Given the description of an element on the screen output the (x, y) to click on. 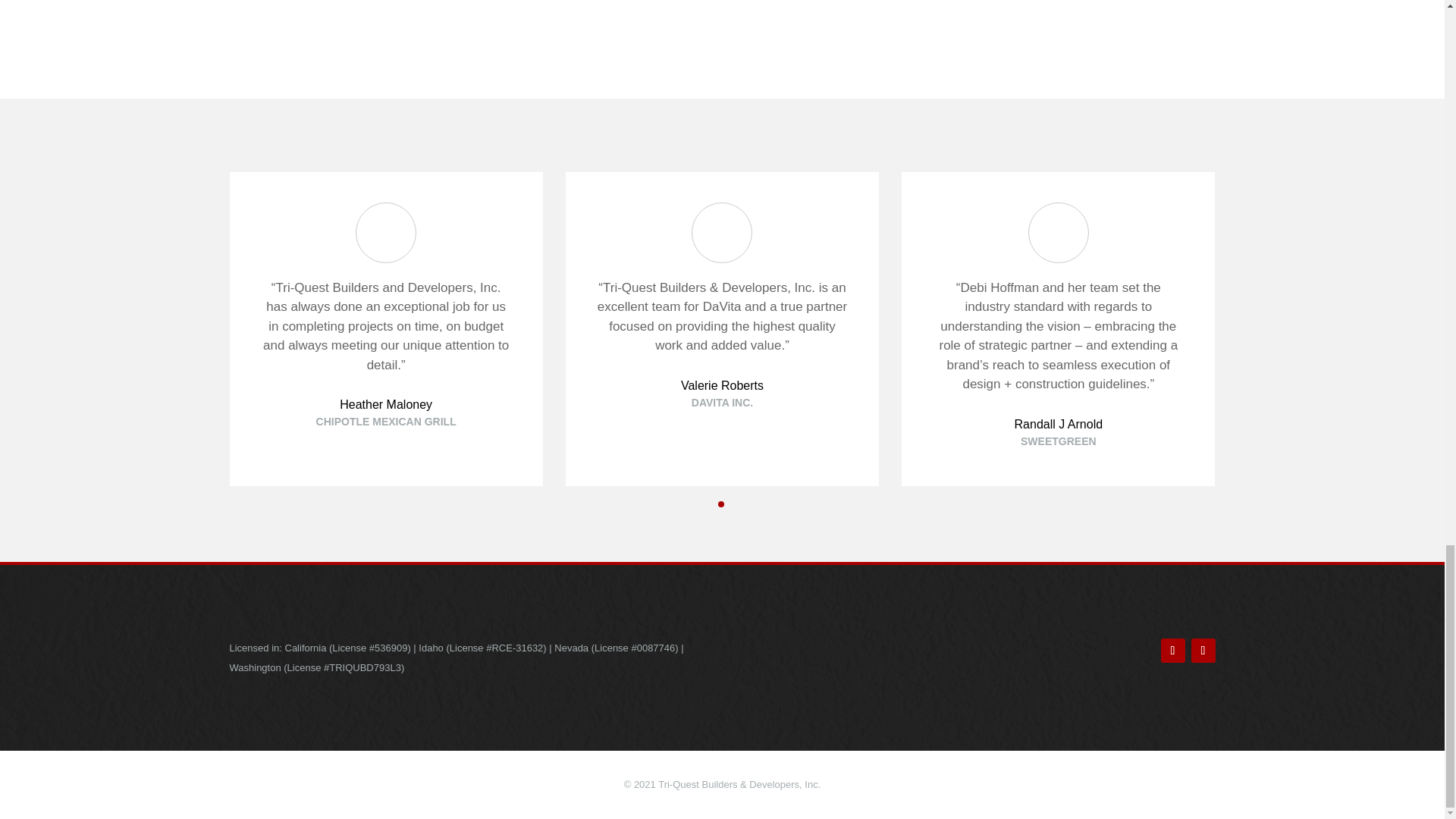
Follow on Facebook (1172, 650)
Heather Maloney (385, 404)
Valerie Roberts (721, 385)
Follow on LinkedIn (1202, 650)
Randall J Arnold (1058, 423)
